Given the description of an element on the screen output the (x, y) to click on. 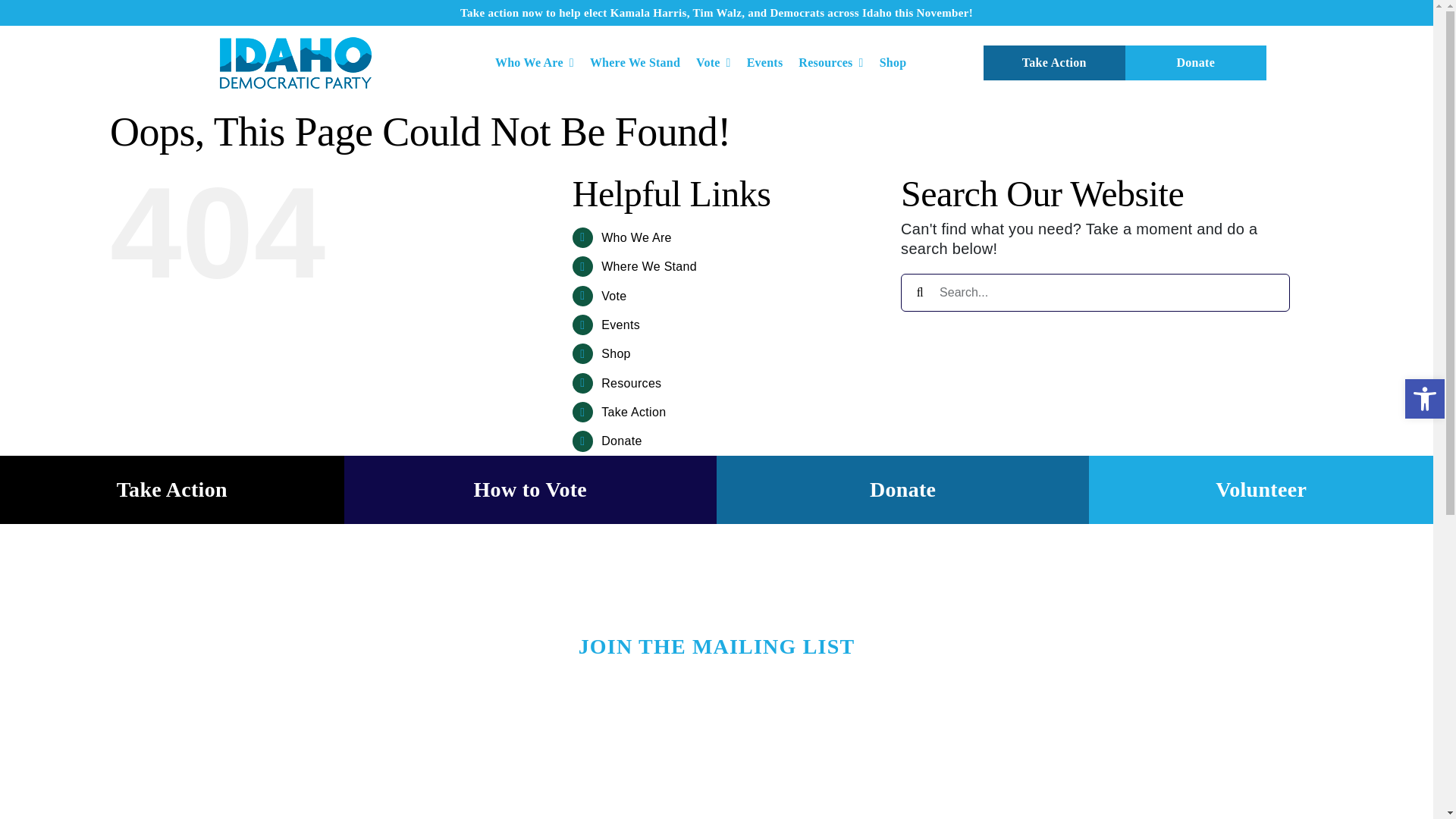
Resources (830, 63)
Vote (712, 63)
Shop (893, 63)
Events (764, 63)
IDP-Logo-200px (295, 62)
Where We Stand (634, 63)
Who We Are (534, 63)
